Given the description of an element on the screen output the (x, y) to click on. 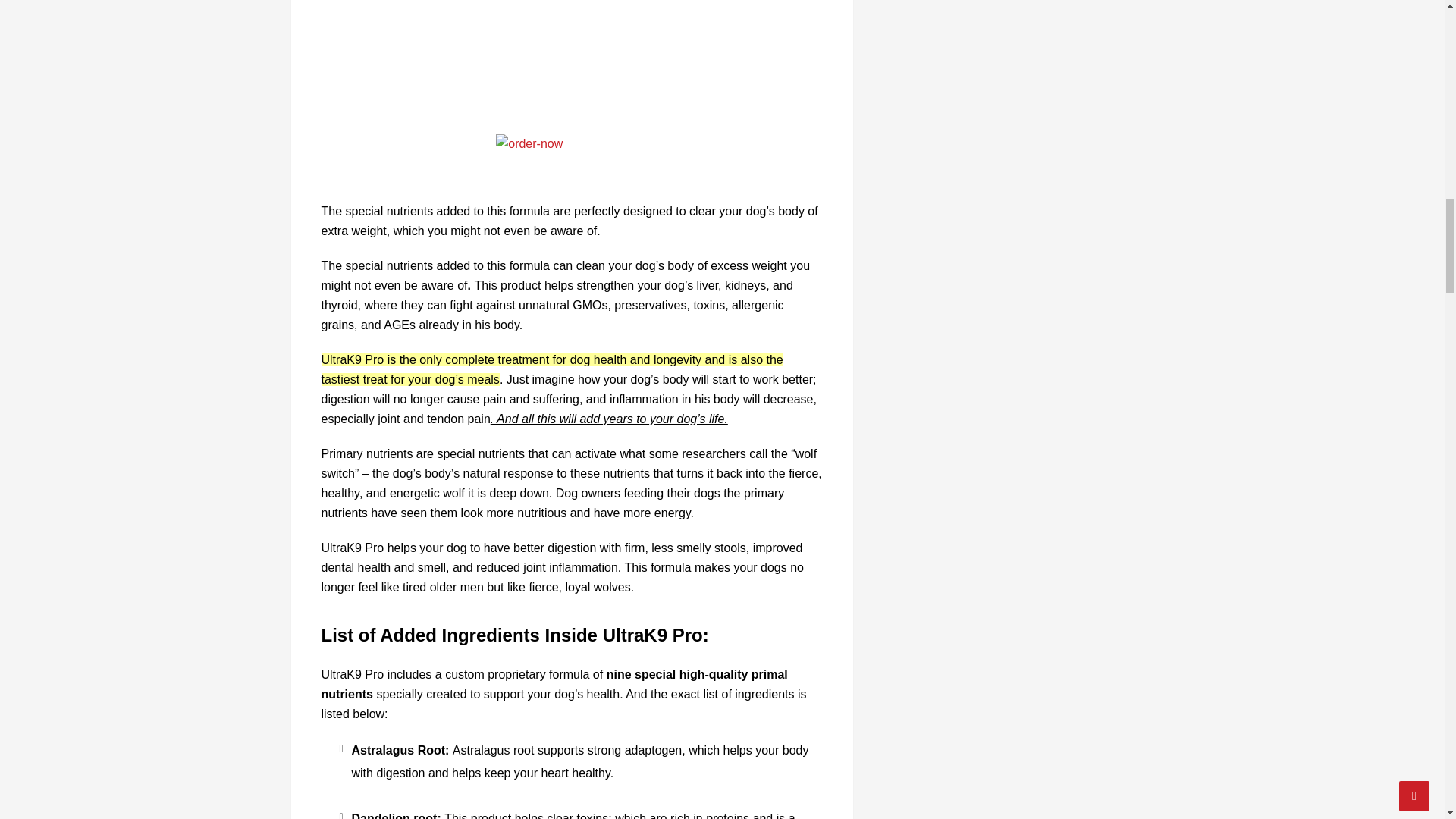
Ultrak9 Pro Reviews (571, 59)
dog health (598, 359)
order-now (571, 160)
